Given the description of an element on the screen output the (x, y) to click on. 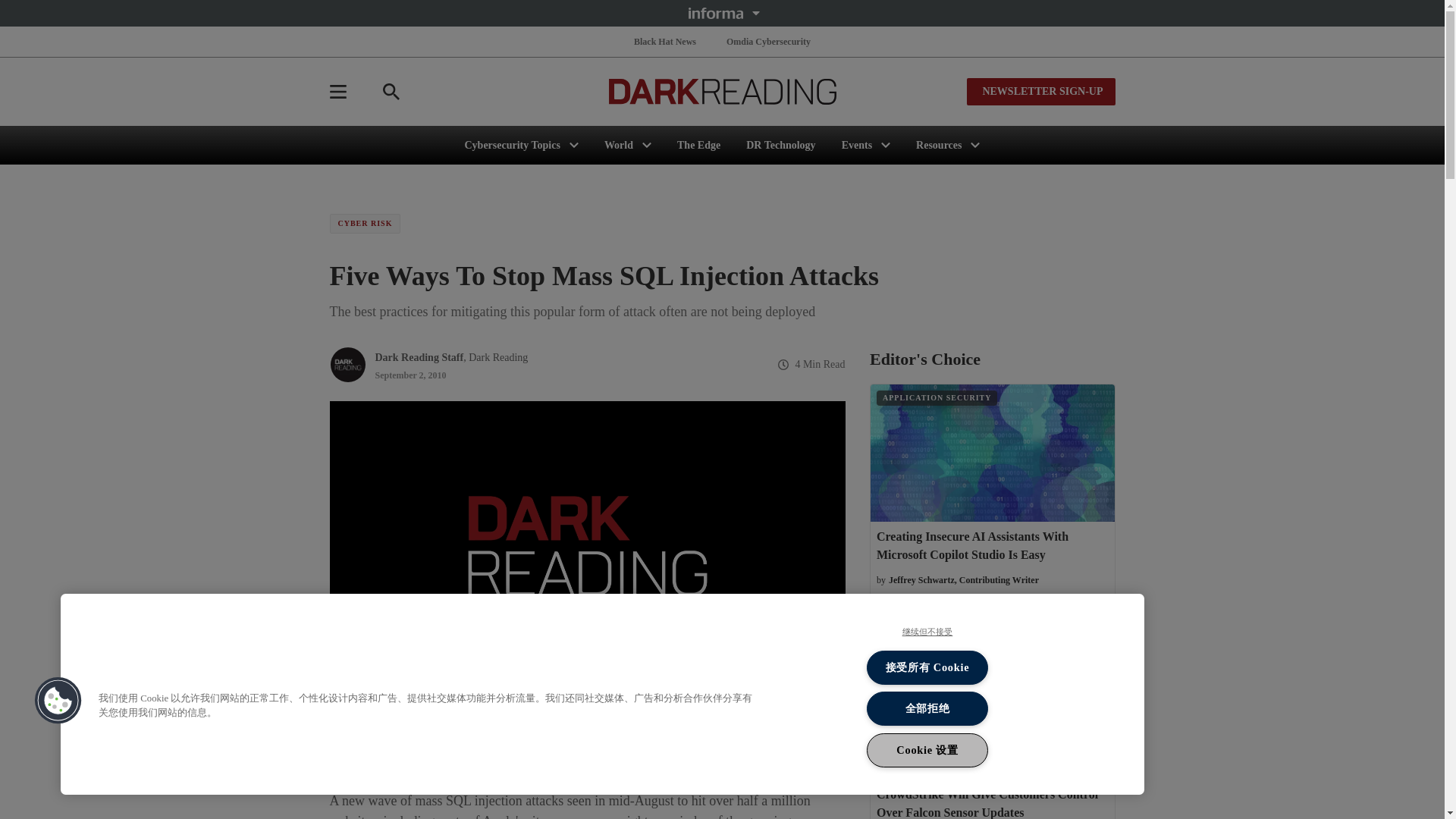
Dark Reading Logo (721, 91)
NEWSLETTER SIGN-UP (1040, 90)
Black Hat News (664, 41)
Omdia Cybersecurity (768, 41)
Picture of Dark Reading Staff (347, 364)
Cookies Button (57, 700)
